Given the description of an element on the screen output the (x, y) to click on. 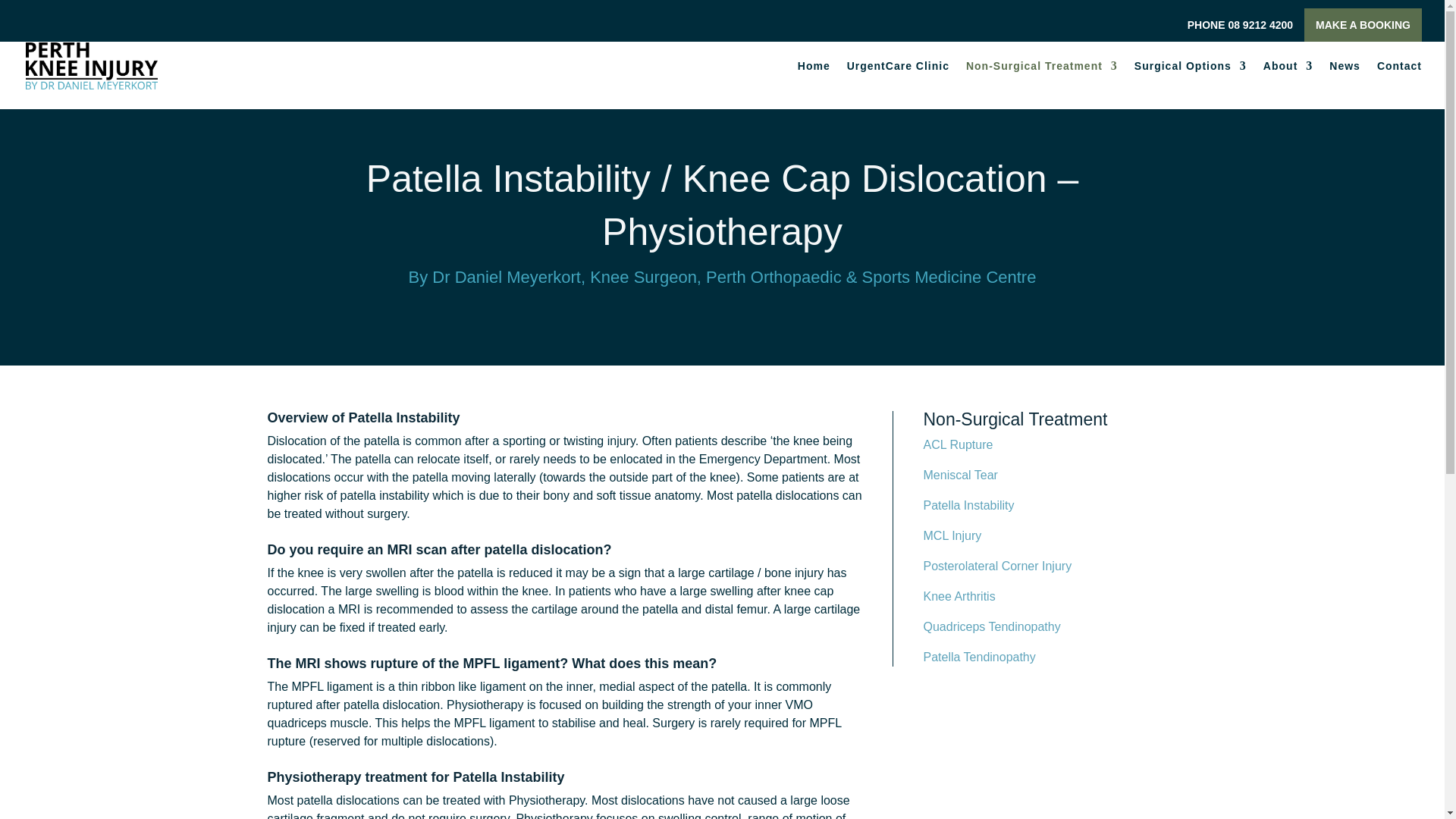
ACL Rupture (957, 444)
Surgical Options (1190, 84)
MCL Injury (952, 535)
Posterolateral Corner Injury (997, 565)
UrgentCare Clinic (898, 84)
MAKE A BOOKING (1363, 23)
Meniscal Tear (960, 474)
About (1288, 84)
Patella Instability (968, 504)
Patella Tendinopathy (979, 656)
